Given the description of an element on the screen output the (x, y) to click on. 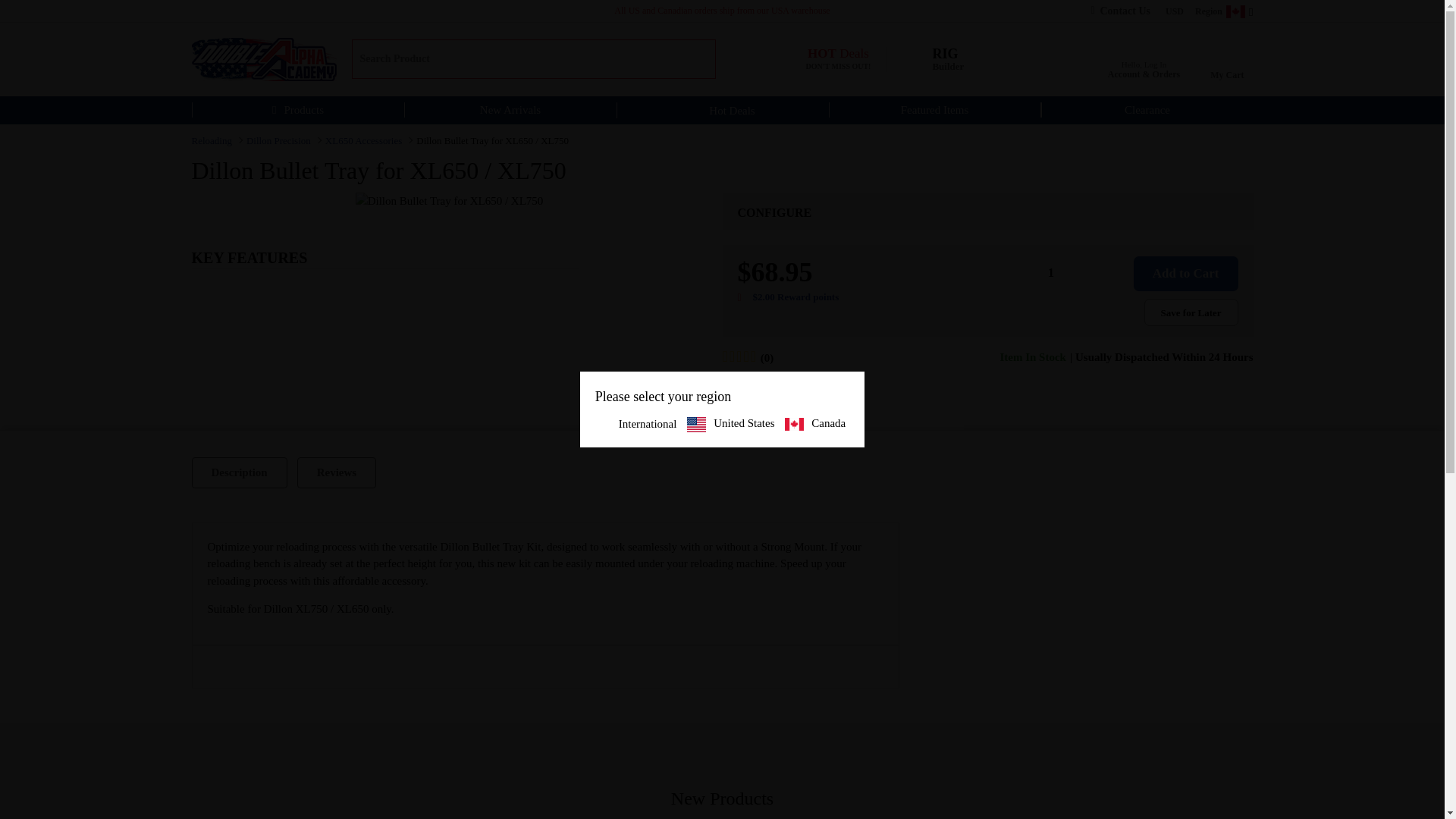
International (638, 424)
Canada (1230, 59)
United States (830, 59)
Contact Us (932, 59)
Products (814, 423)
